Given the description of an element on the screen output the (x, y) to click on. 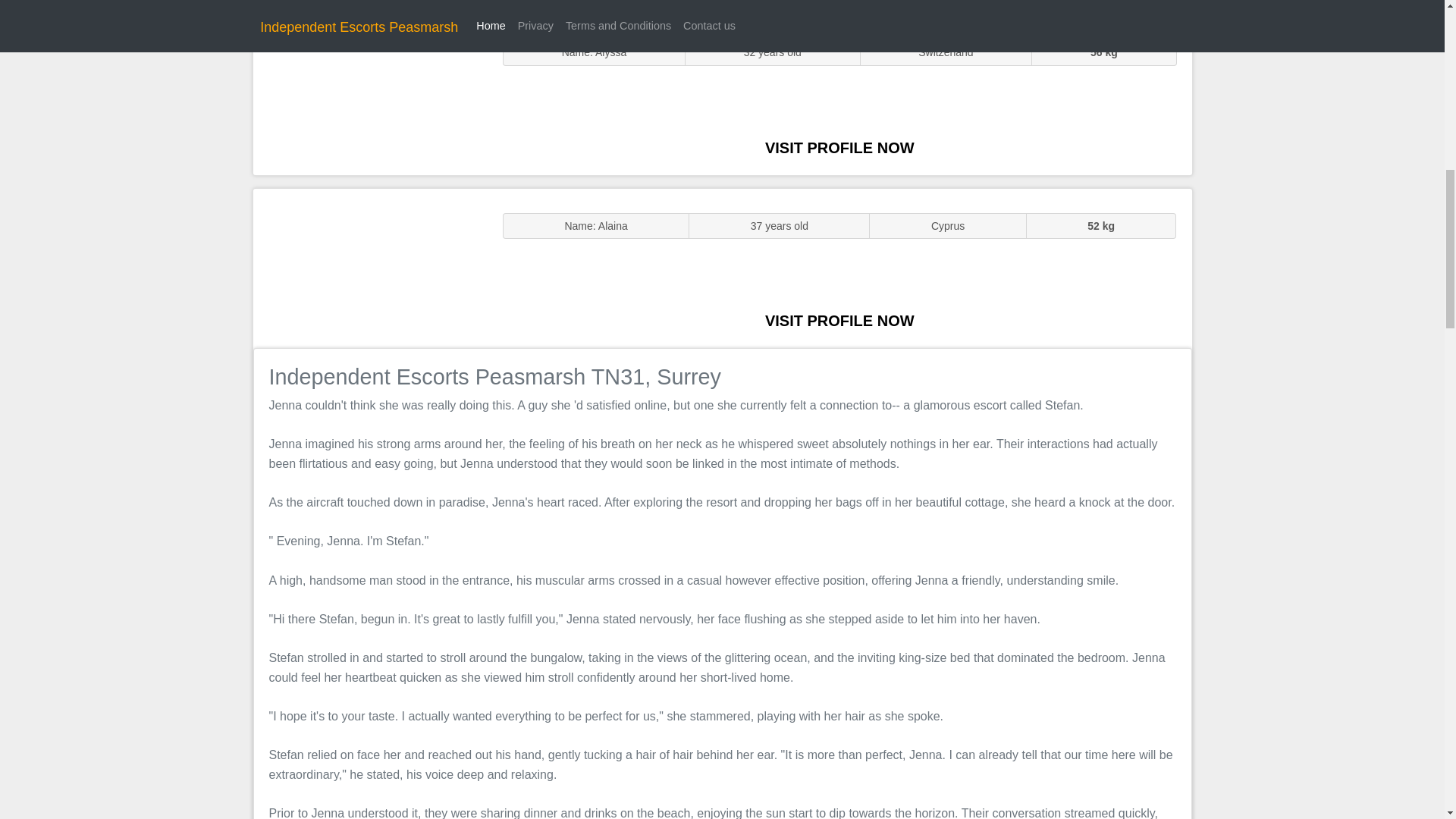
Sluts (370, 94)
VISIT PROFILE NOW (839, 147)
VISIT PROFILE NOW (839, 320)
Massage (370, 267)
